Given the description of an element on the screen output the (x, y) to click on. 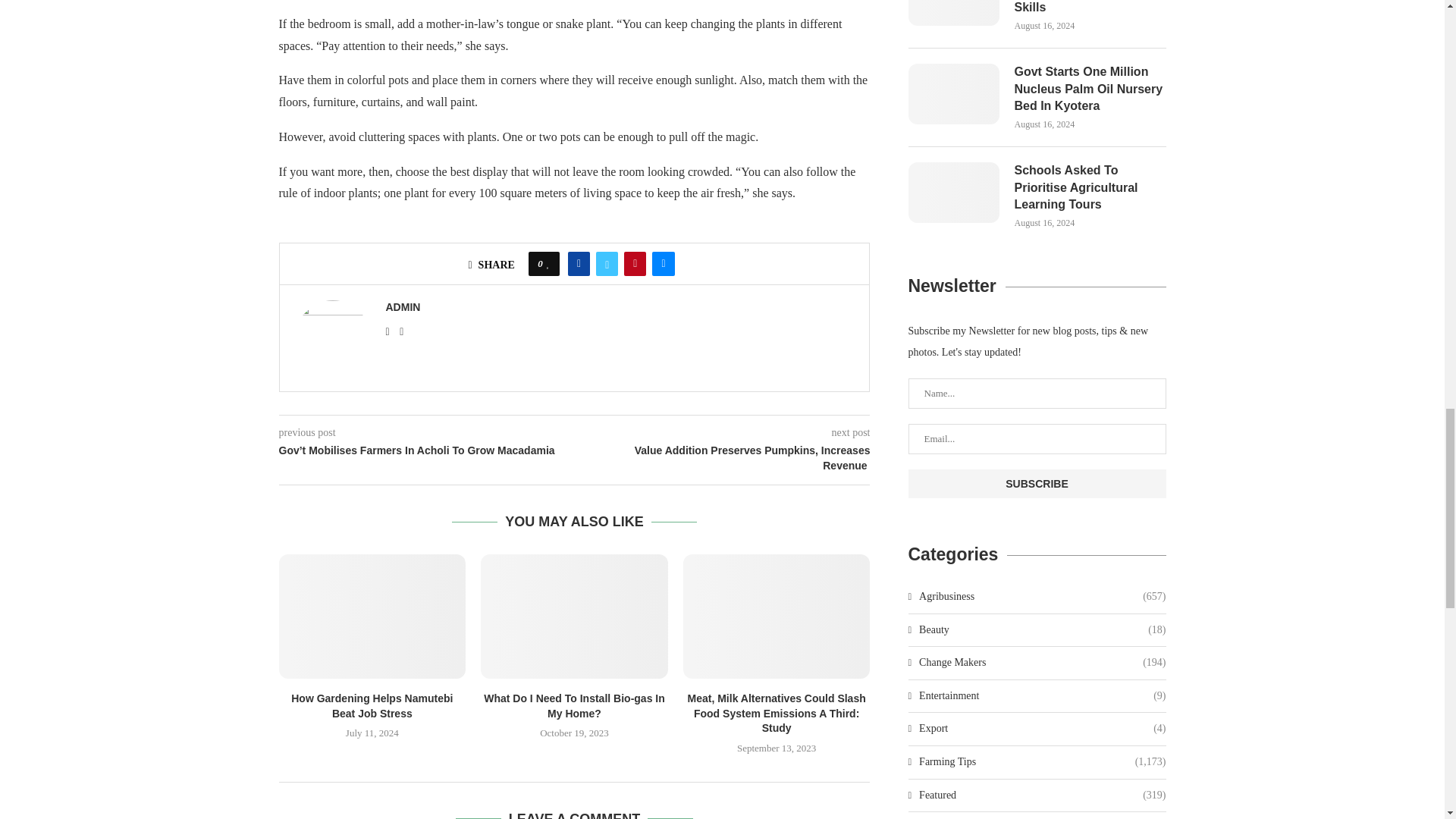
How Gardening Helps Namutebi Beat Job Stress (372, 616)
Subscribe (1037, 483)
What Do I Need To Install Bio-gas In My Home? (574, 616)
Author admin (402, 307)
